Given the description of an element on the screen output the (x, y) to click on. 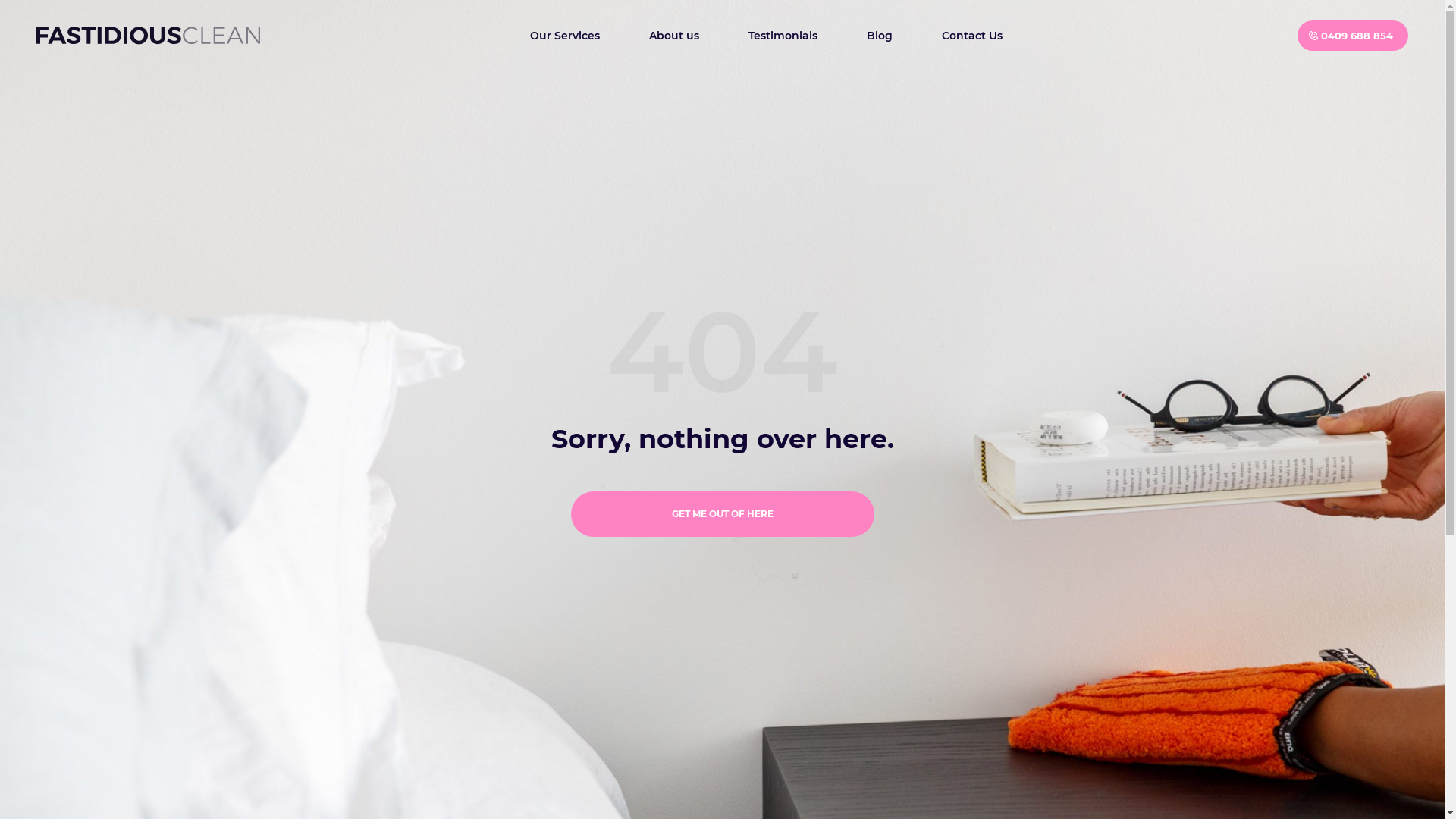
Blog Element type: text (879, 35)
Testimonials Element type: text (782, 35)
GET ME OUT OF HERE Element type: text (721, 513)
Our Services Element type: text (564, 35)
0409 688 854 Element type: text (1352, 35)
ico/Logo/Black Created with Sketch. Element type: text (148, 36)
About us Element type: text (673, 35)
Contact Us Element type: text (971, 35)
